Given the description of an element on the screen output the (x, y) to click on. 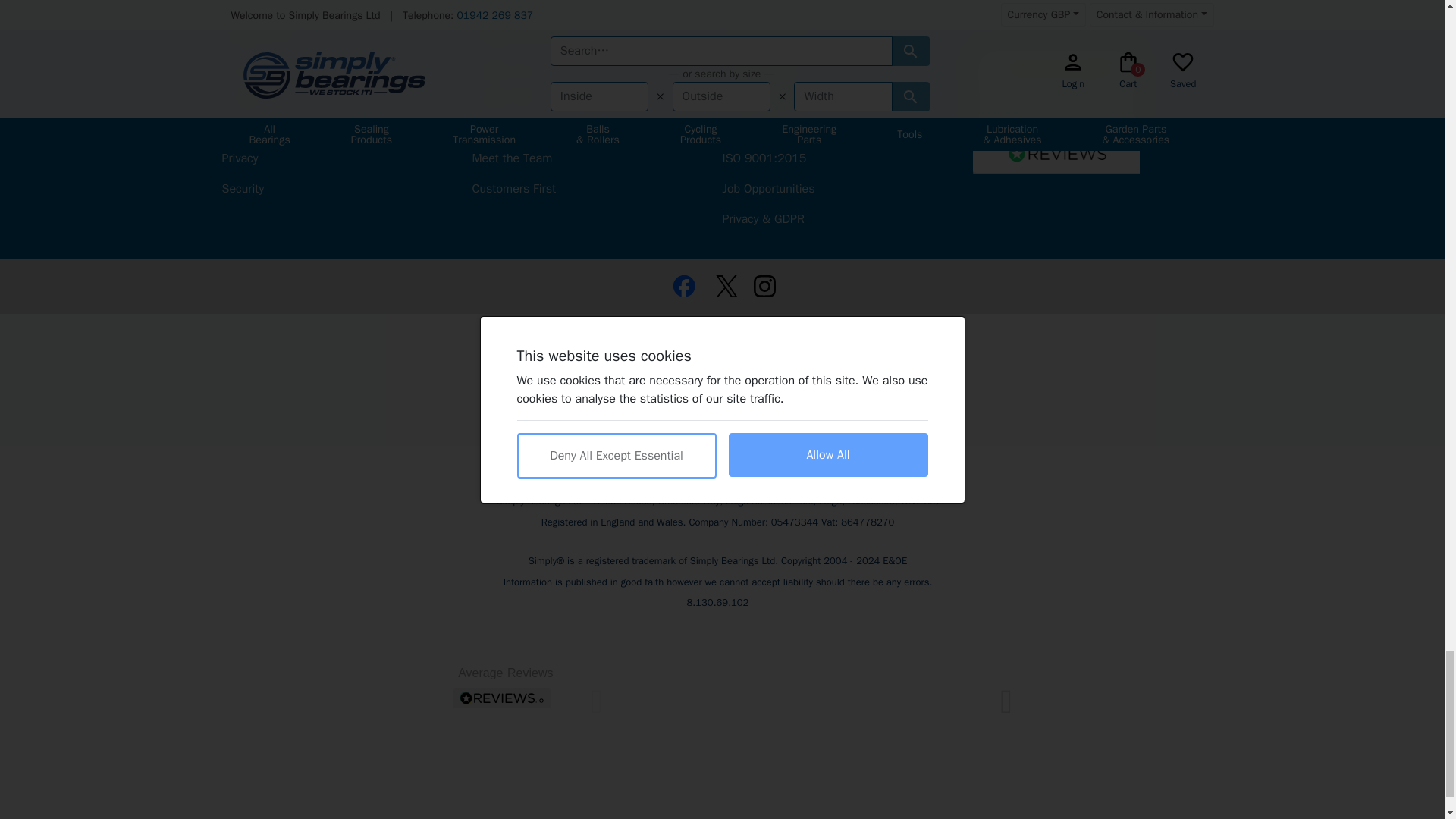
Reviews Widget (717, 713)
